Given the description of an element on the screen output the (x, y) to click on. 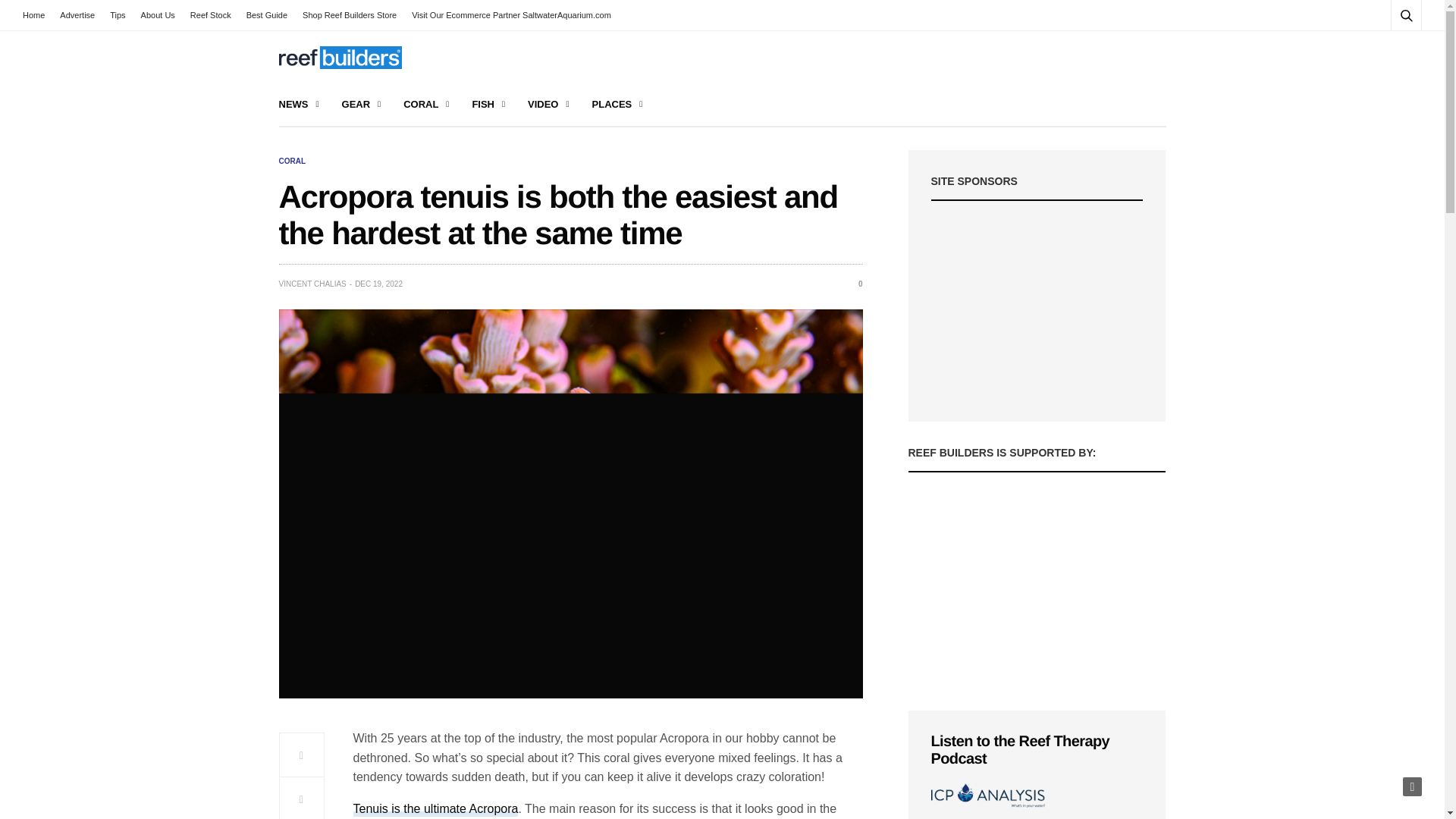
Best Guide (266, 15)
About Us (158, 15)
Search (1386, 51)
Advertise (76, 15)
Visit Our Ecommerce Partner SaltwaterAquarium.com (511, 15)
Posts by Vincent Chalias (312, 284)
Reef Stock (210, 15)
GEAR (361, 105)
Coral (292, 161)
